Given the description of an element on the screen output the (x, y) to click on. 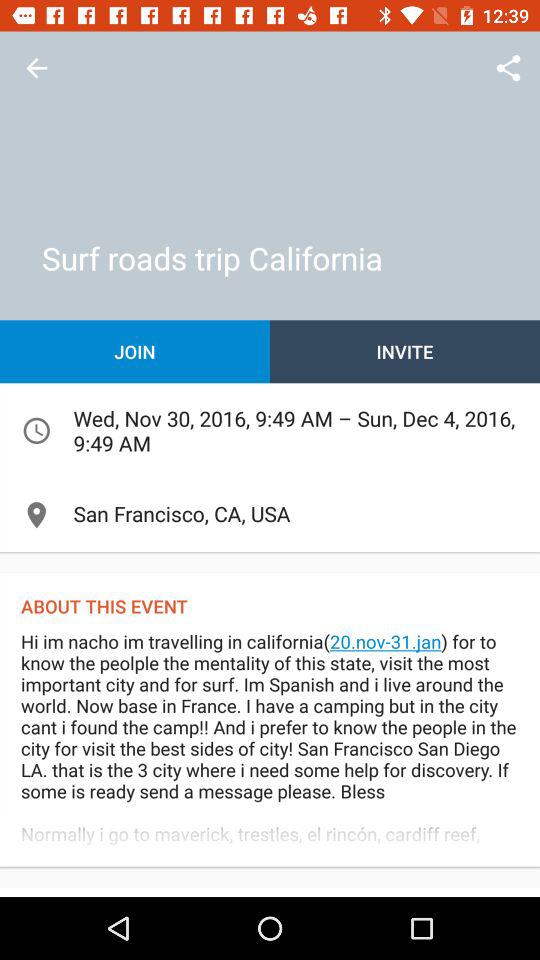
turn off the join item (135, 351)
